Given the description of an element on the screen output the (x, y) to click on. 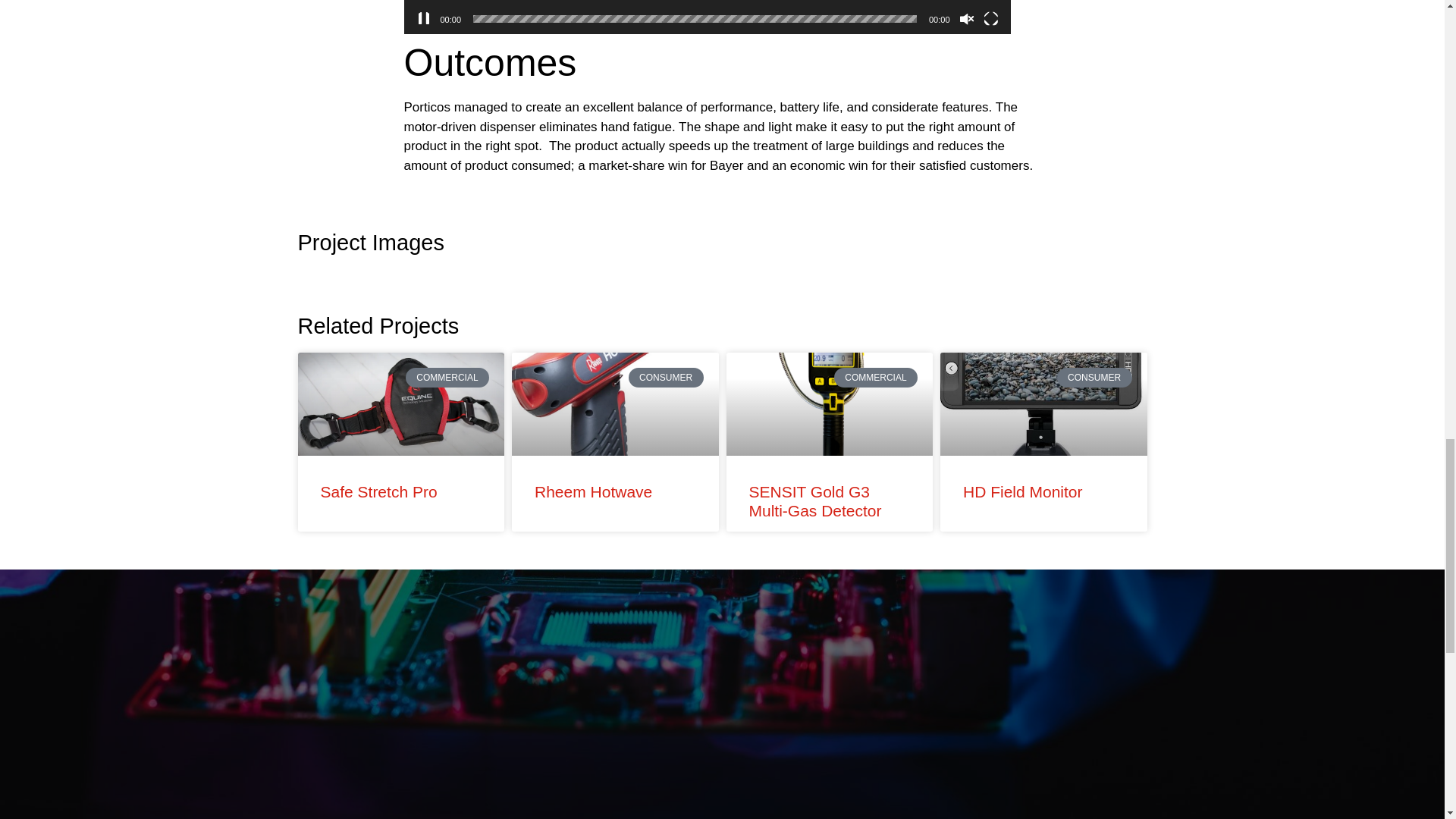
Fullscreen (989, 18)
Unmute (966, 18)
Pause (422, 18)
